Given the description of an element on the screen output the (x, y) to click on. 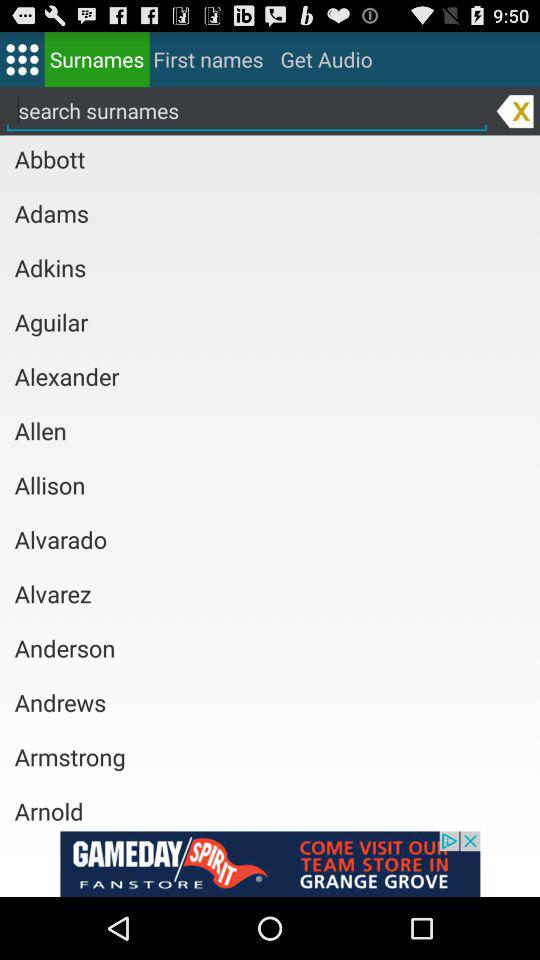
an advertisement (270, 864)
